Given the description of an element on the screen output the (x, y) to click on. 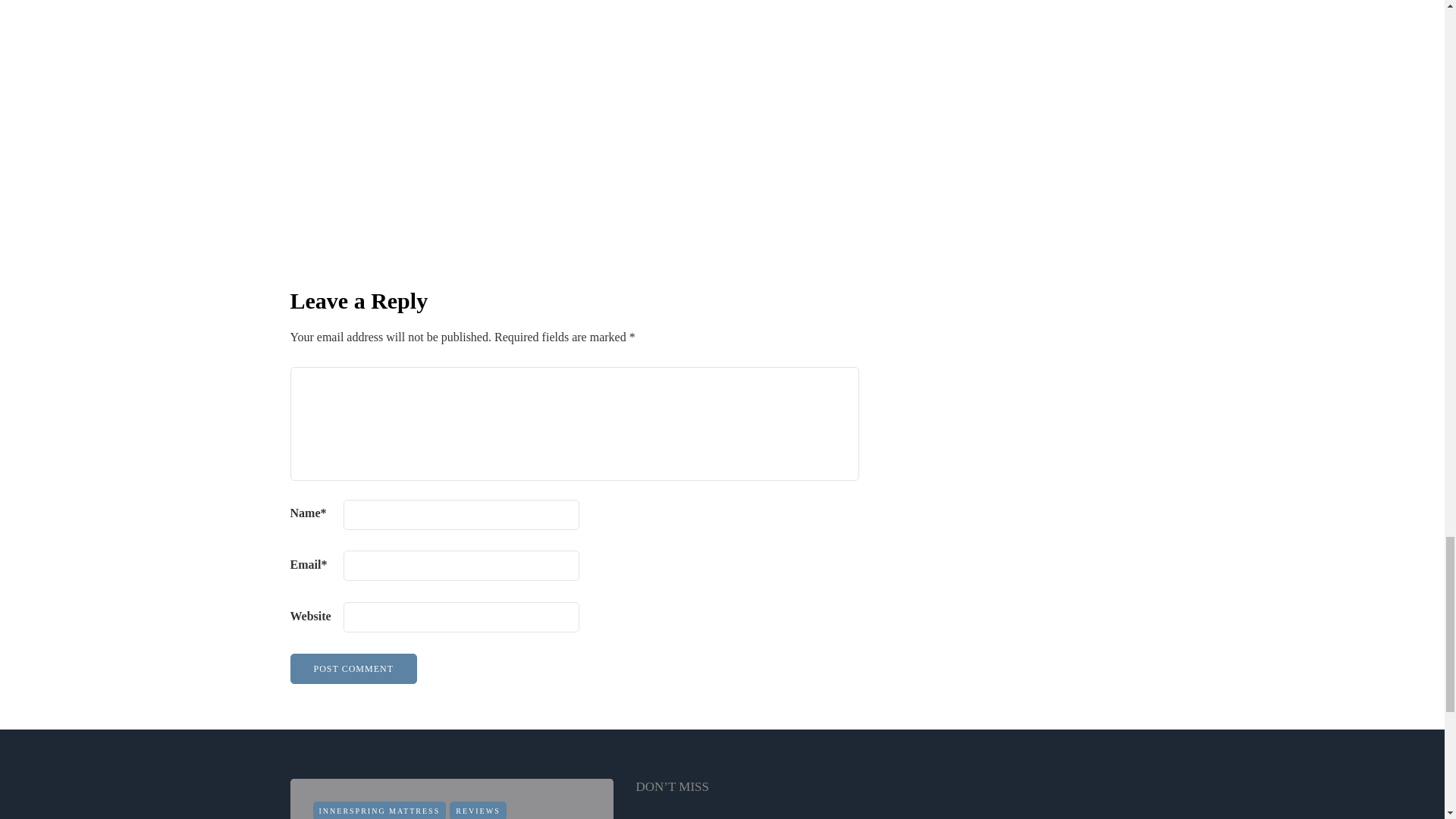
Post comment (352, 668)
